Given the description of an element on the screen output the (x, y) to click on. 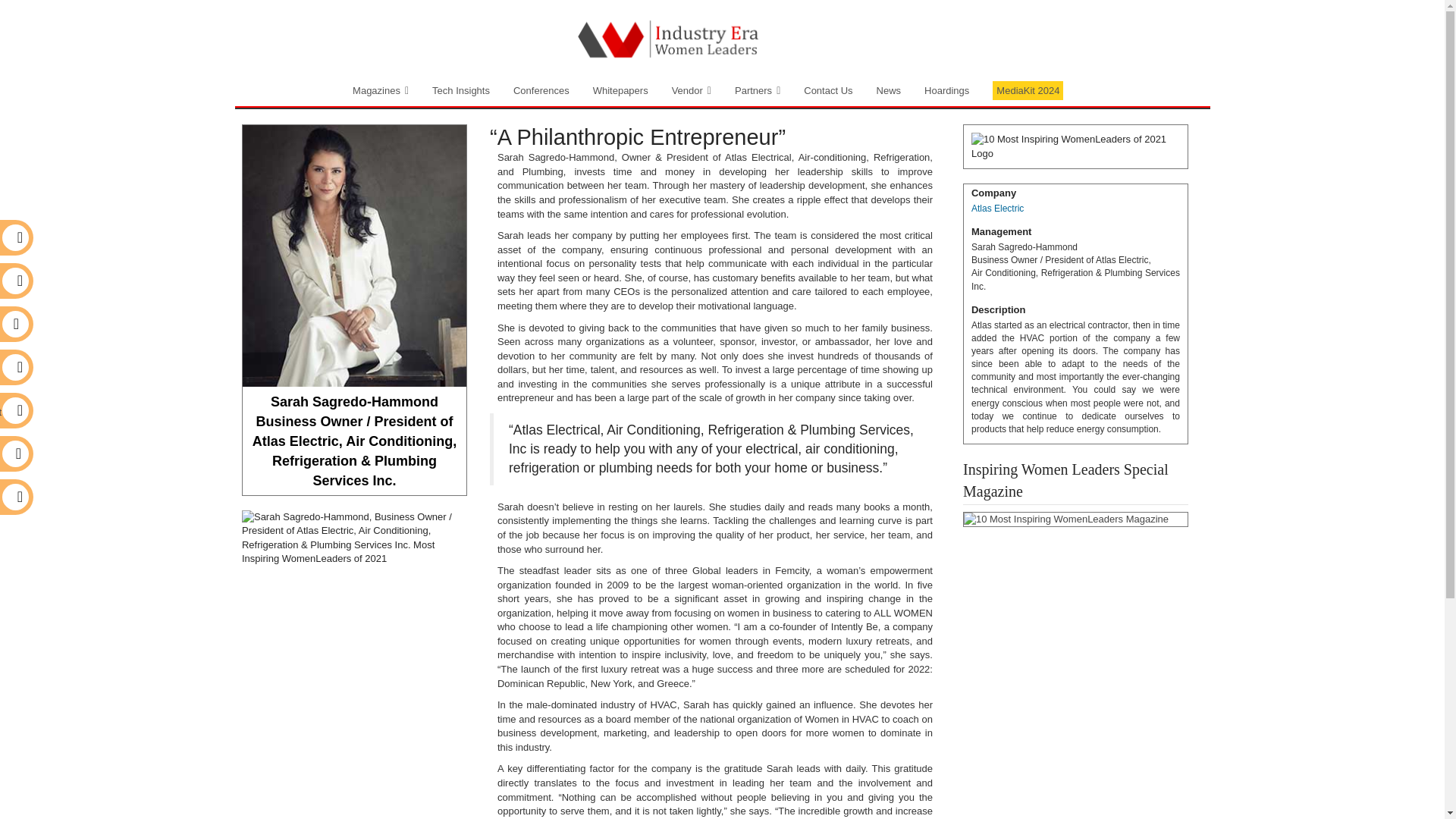
Conferences (541, 91)
Hoardings (945, 91)
Partners (757, 91)
MediaKit 2024 (1027, 91)
Contact Us (827, 91)
Vendor (691, 91)
                                Magazines (336, 91)
News (888, 91)
Tech Insights (460, 91)
Whitepapers (619, 91)
